Given the description of an element on the screen output the (x, y) to click on. 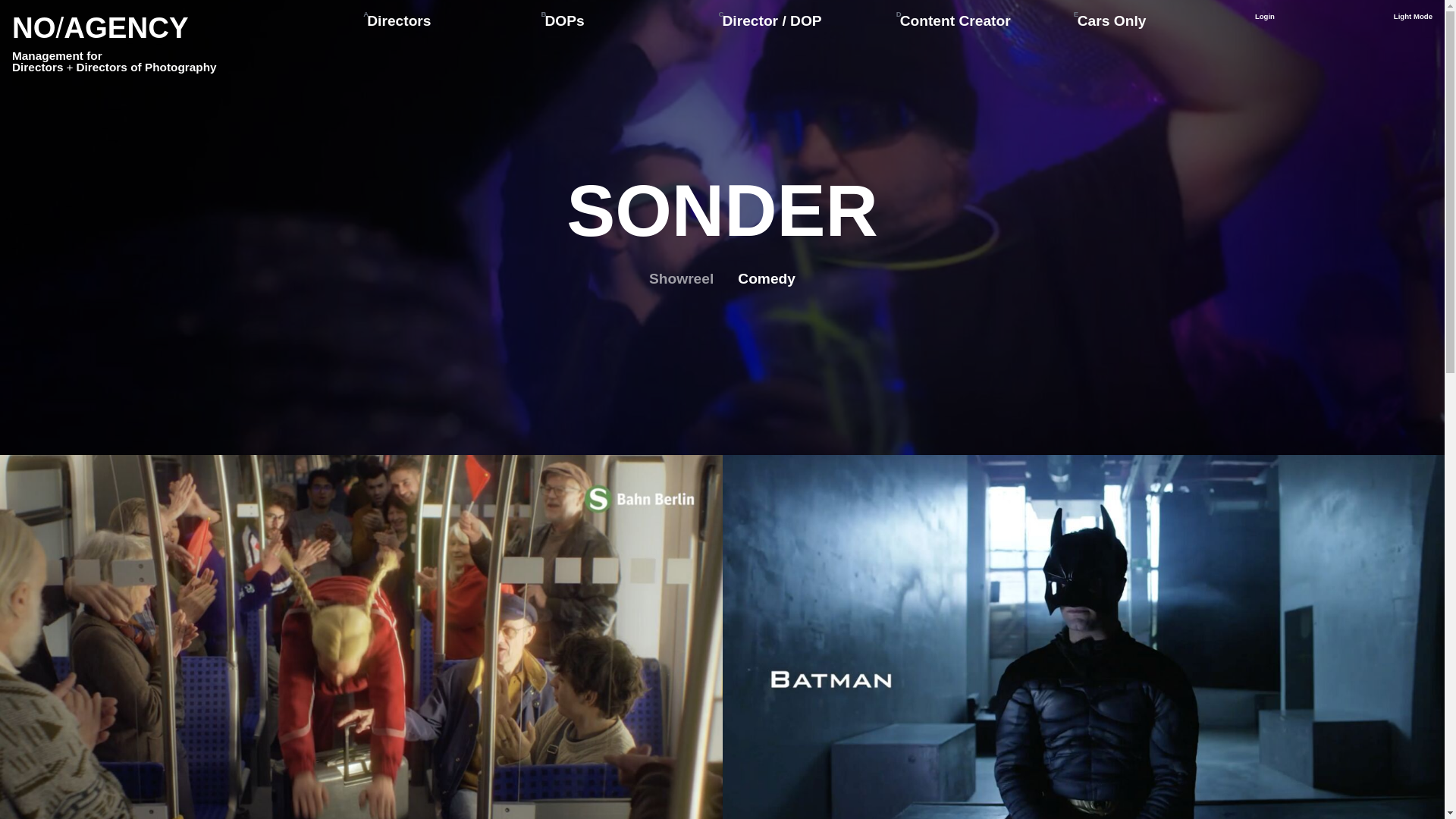
Cars Only (1112, 20)
